Given the description of an element on the screen output the (x, y) to click on. 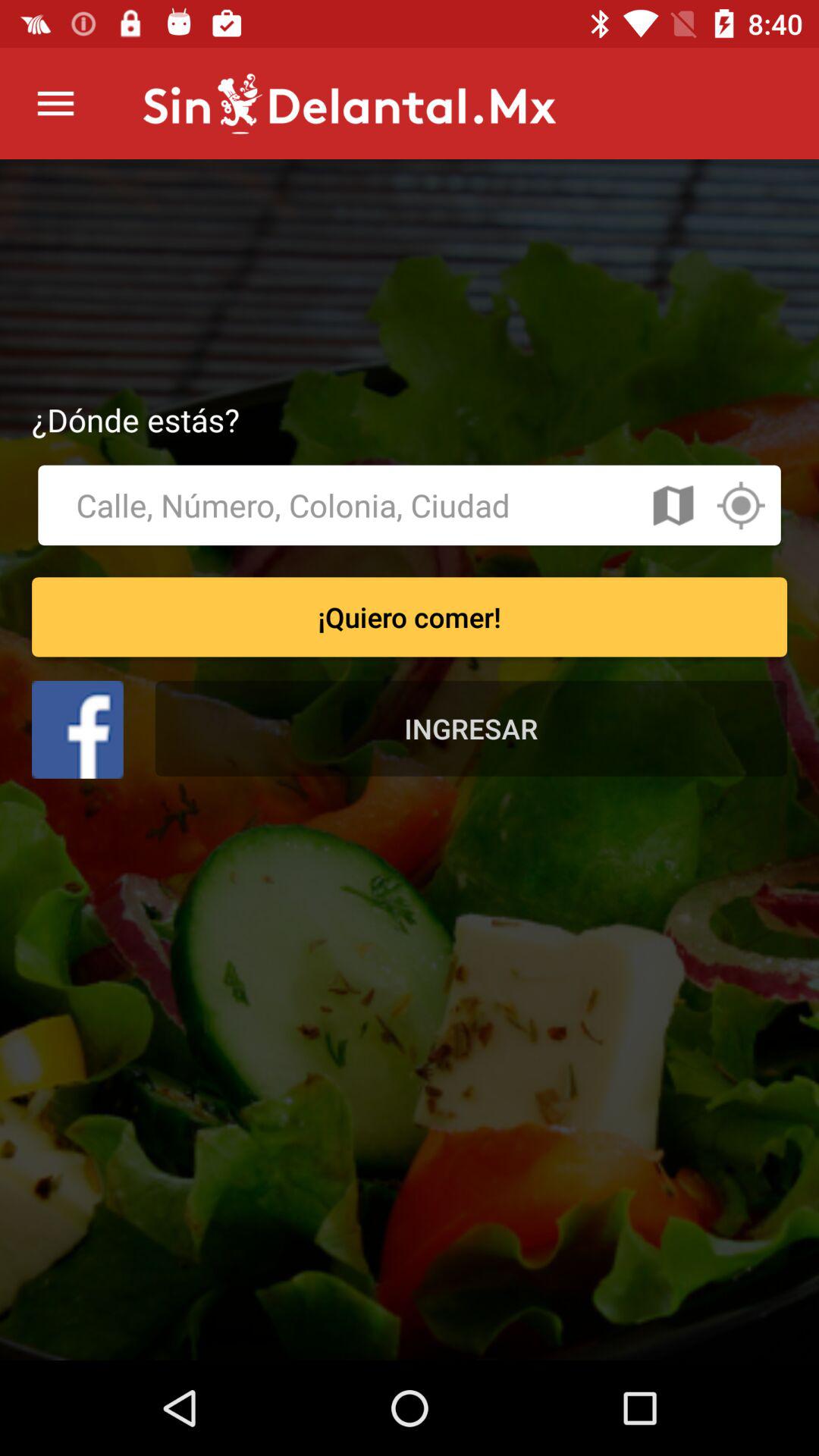
sign in with facebook (77, 729)
